Given the description of an element on the screen output the (x, y) to click on. 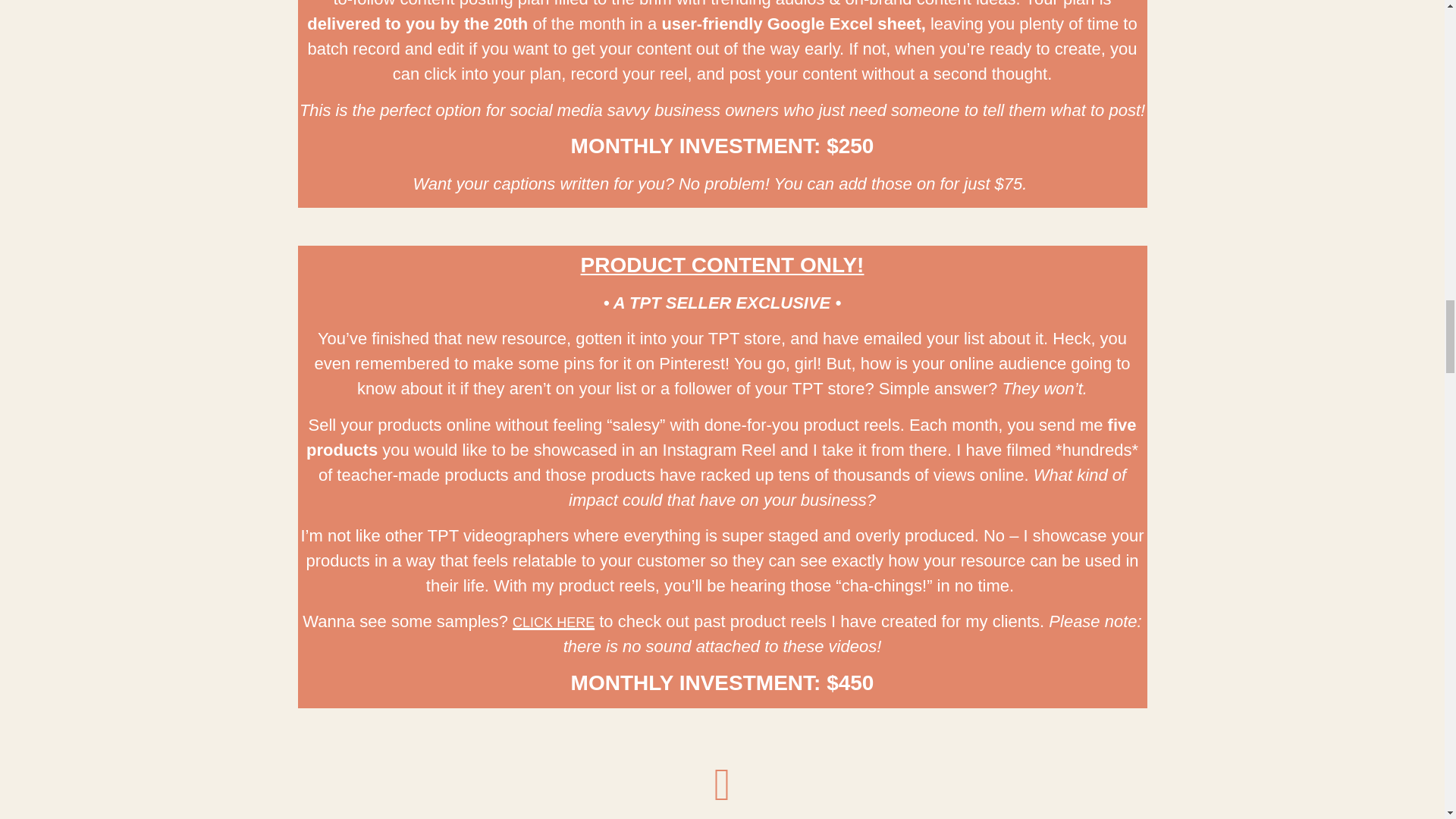
CLICK HERE (553, 622)
